Given the description of an element on the screen output the (x, y) to click on. 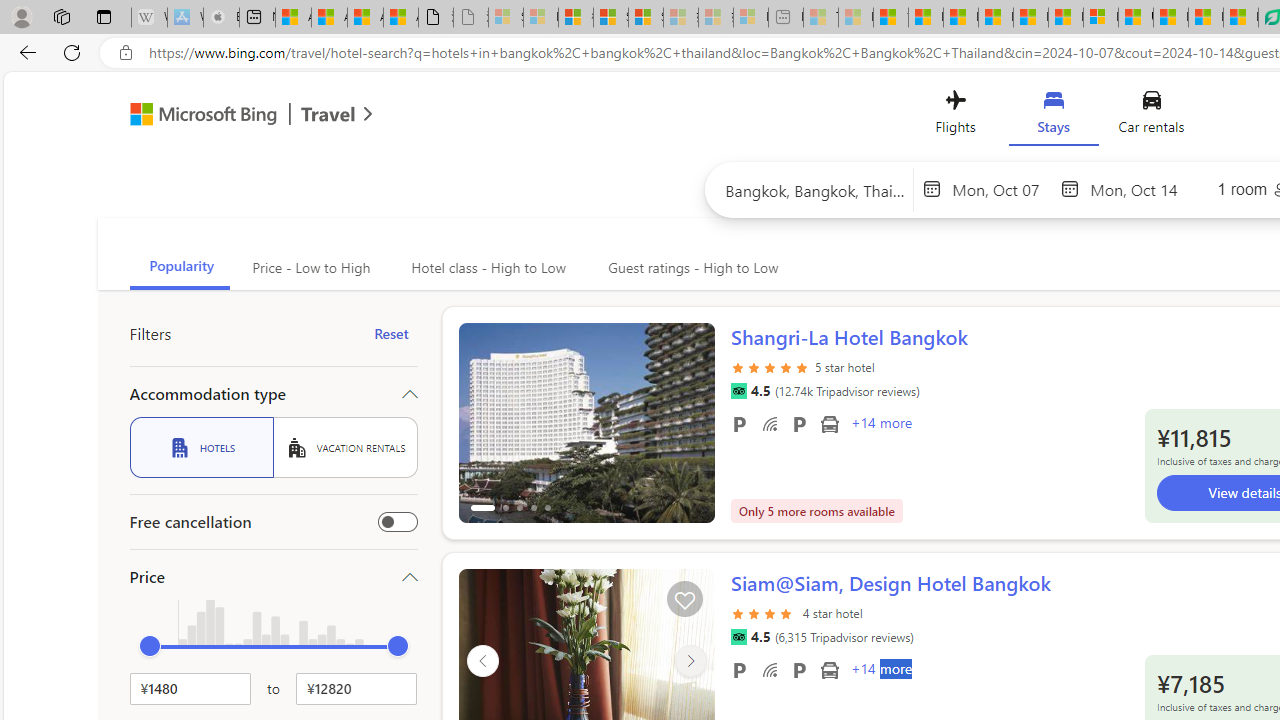
Guest ratings - High to Low (690, 268)
Microsoft Bing (194, 116)
Car rentals (1150, 116)
Free cancellation (397, 521)
Stays (1053, 116)
Price (273, 576)
max  (397, 645)
star rating (763, 624)
+14 More Amenities (880, 671)
Microsoft Bing Travel (229, 116)
Class: msft-bing-logo msft-bing-logo-desktop (198, 114)
US Heat Deaths Soared To Record High Last Year (1135, 17)
Slide 1 (586, 434)
